Given the description of an element on the screen output the (x, y) to click on. 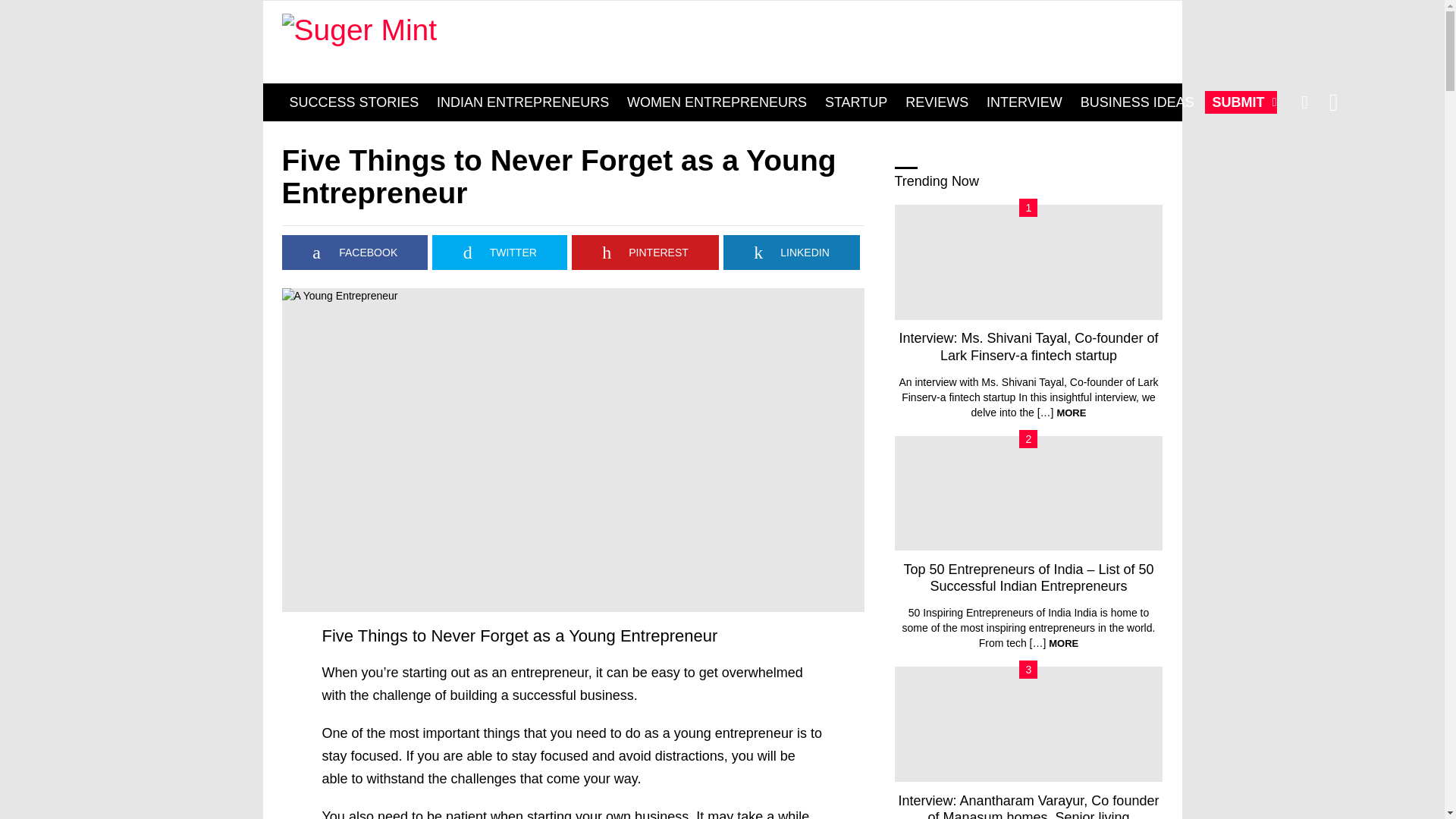
PINTEREST (645, 252)
FACEBOOK (355, 252)
INTERVIEW (1024, 101)
INDIAN ENTREPRENEURS (522, 101)
BUSINESS IDEAS (1137, 101)
SUCCESS STORIES (354, 101)
LINKEDIN (791, 252)
SUBMIT (1240, 101)
REVIEWS (936, 101)
STARTUP (855, 101)
